Given the description of an element on the screen output the (x, y) to click on. 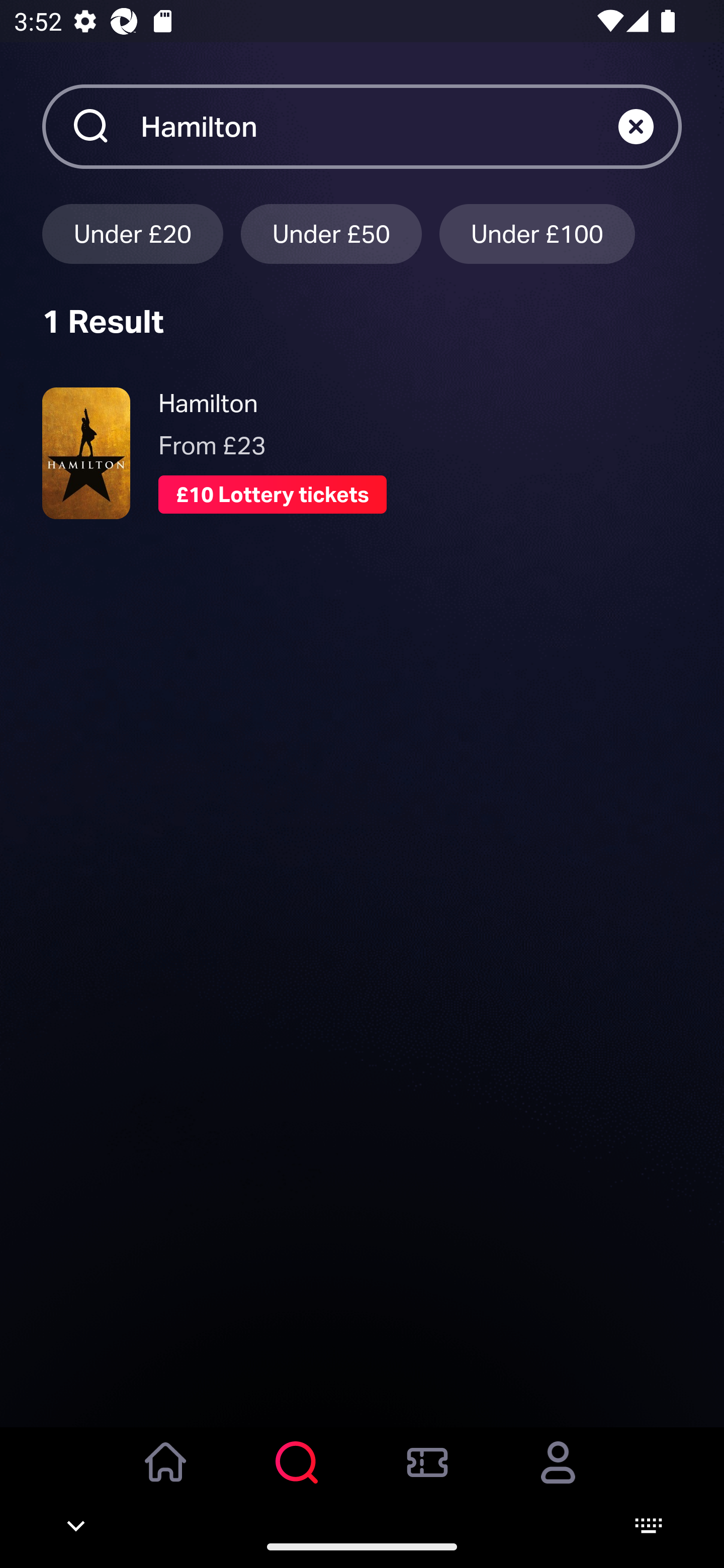
Hamilton (379, 126)
Under £20 (131, 233)
Under £50 (331, 233)
Under £100 (536, 233)
Home (165, 1475)
Orders (427, 1475)
Account (558, 1475)
